Given the description of an element on the screen output the (x, y) to click on. 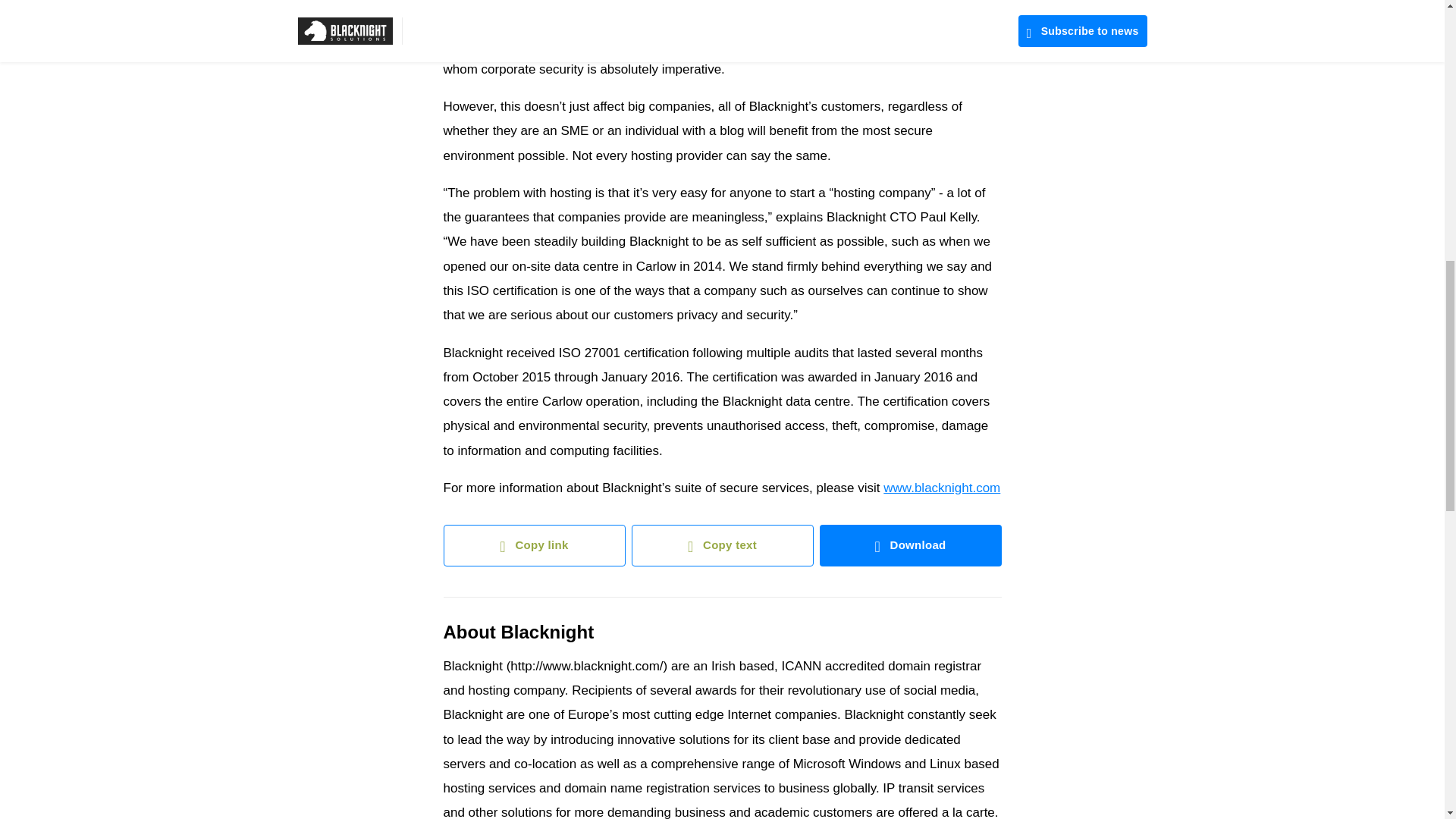
Copy text (721, 545)
Copy link (533, 545)
www.blacknight.com (941, 487)
Download (909, 545)
